Given the description of an element on the screen output the (x, y) to click on. 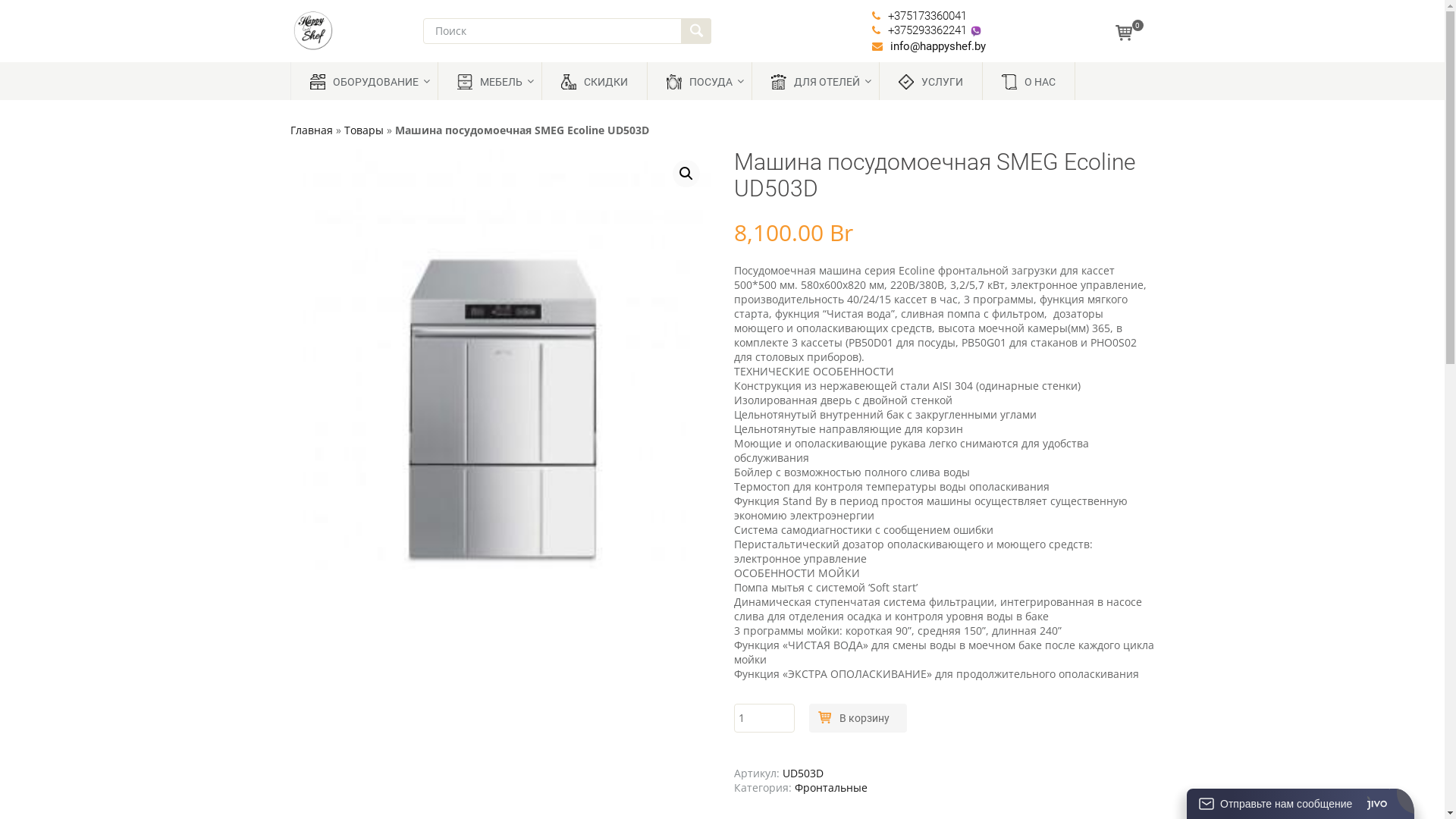
info@happyshef.by Element type: text (937, 46)
Find Element type: hover (695, 30)
+375173360041 Element type: text (927, 15)
Skip to content Element type: text (324, 68)
+375293362241 Element type: text (927, 30)
